Given the description of an element on the screen output the (x, y) to click on. 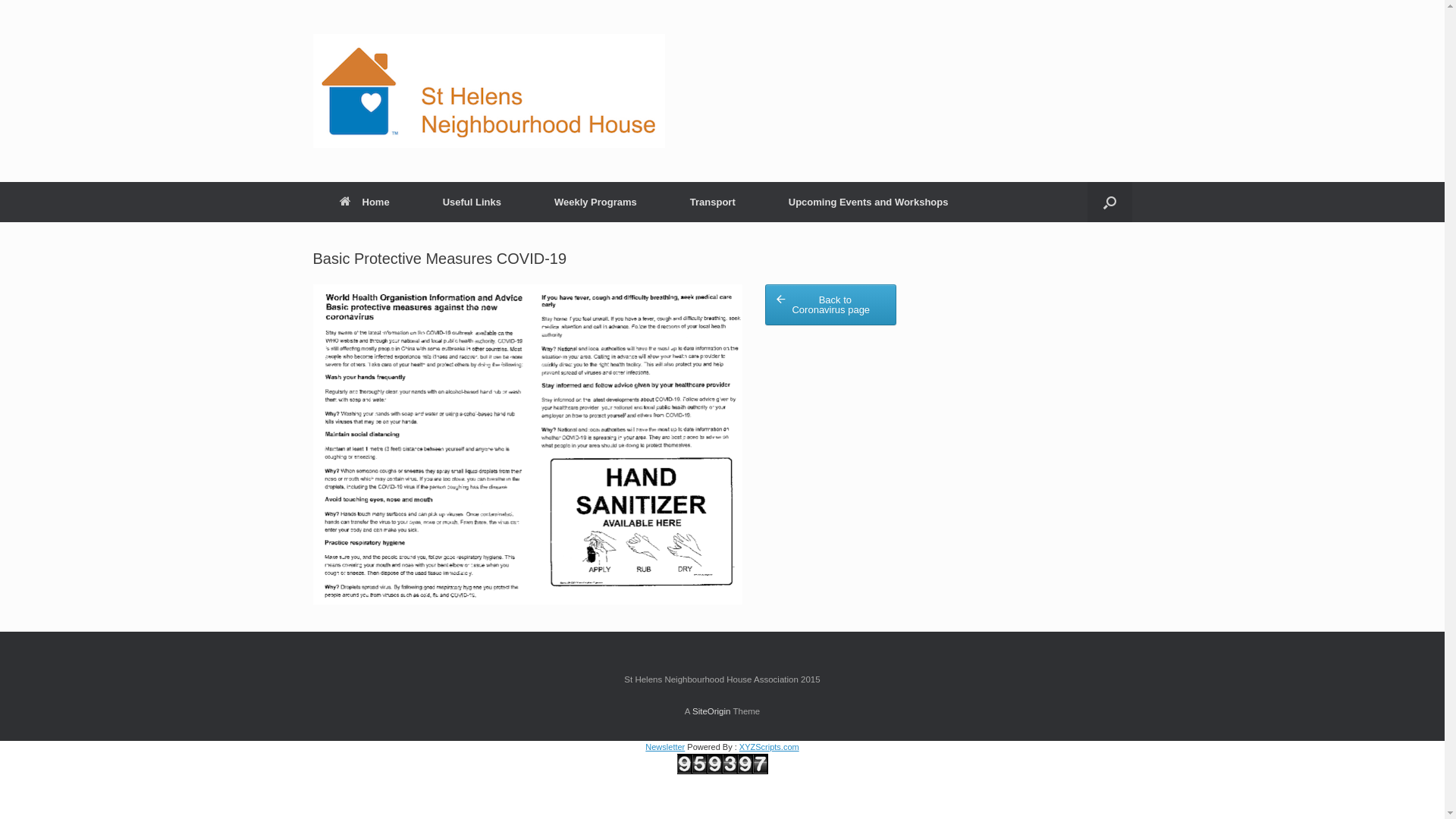
Transport Element type: text (712, 202)
WHO Hand wash Element type: hover (527, 444)
Weekly Programs Element type: text (595, 202)
St Helens Neighbourhood House Element type: hover (488, 90)
XYZScripts.com Element type: text (769, 746)
Upcoming Events and Workshops Element type: text (868, 202)
Newsletter Element type: text (664, 746)
SiteOrigin Element type: text (711, 710)
Skip to content Element type: text (0, 0)
Useful Links Element type: text (471, 202)
Home Element type: text (363, 202)
Back to Coronavirus page Element type: text (830, 304)
